Given the description of an element on the screen output the (x, y) to click on. 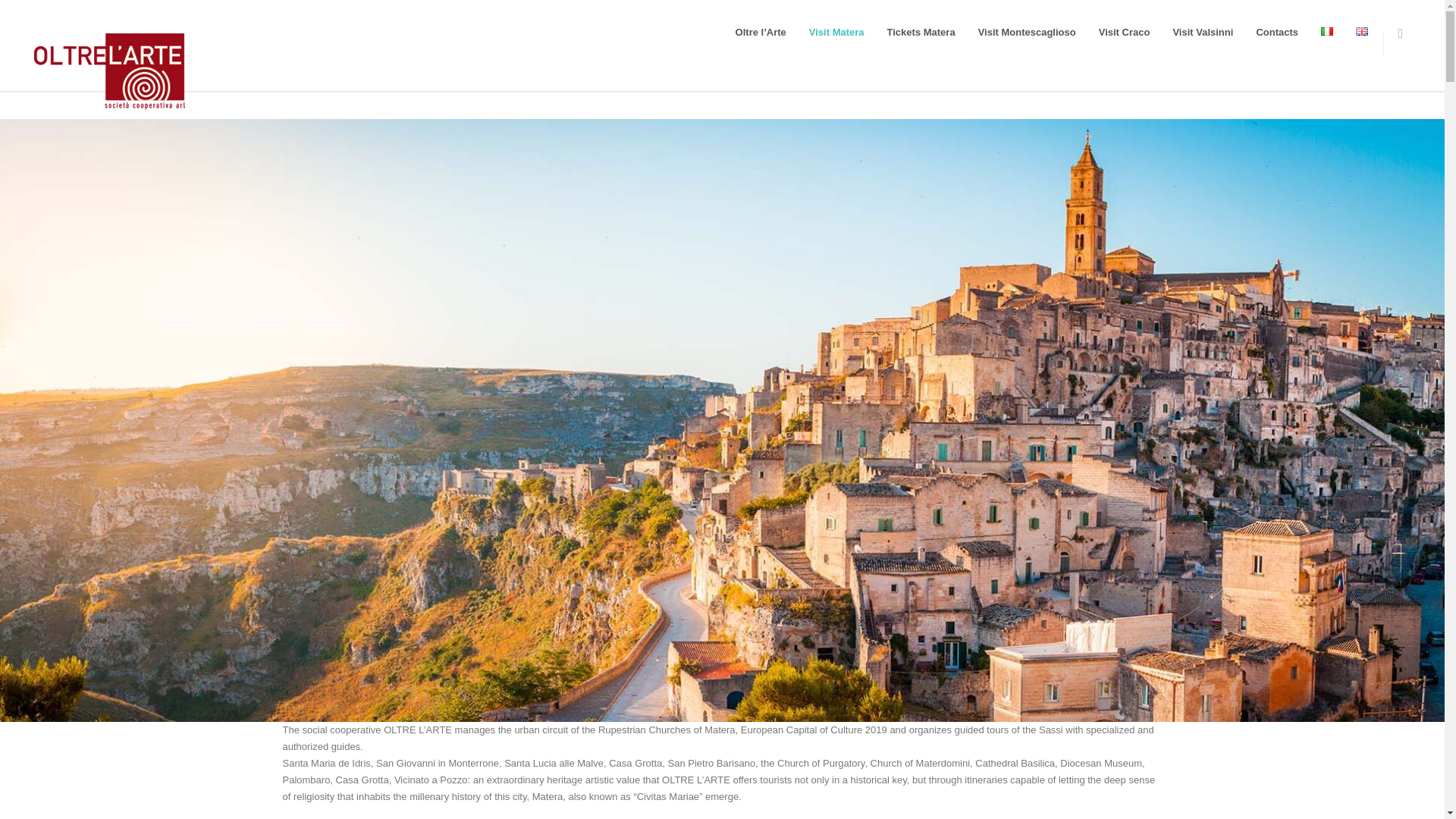
Visit Matera (836, 32)
Tickets Matera (921, 32)
Contacts (1276, 32)
Visit Valsinni (1202, 32)
Visit Montescaglioso (1026, 32)
Visit Craco (1124, 32)
